Given the description of an element on the screen output the (x, y) to click on. 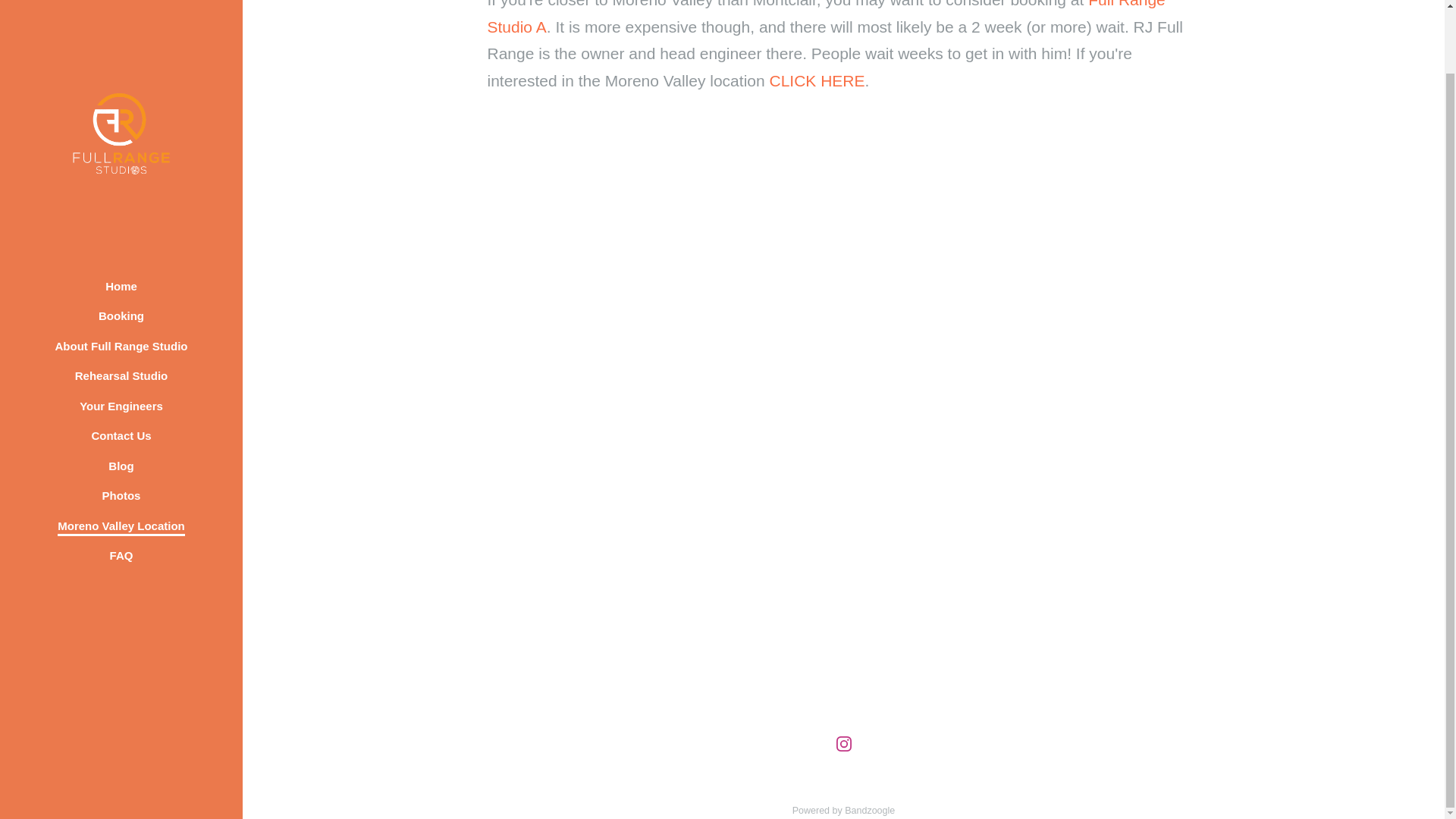
Home (120, 216)
Booking (121, 246)
Photos (121, 425)
CLICK HERE (816, 80)
Contact Us (120, 365)
Moreno Valley Location (121, 456)
FAQ (121, 485)
Powered by Bandzoogle (843, 810)
Full Range Studio A (825, 18)
Blog (120, 396)
